Given the description of an element on the screen output the (x, y) to click on. 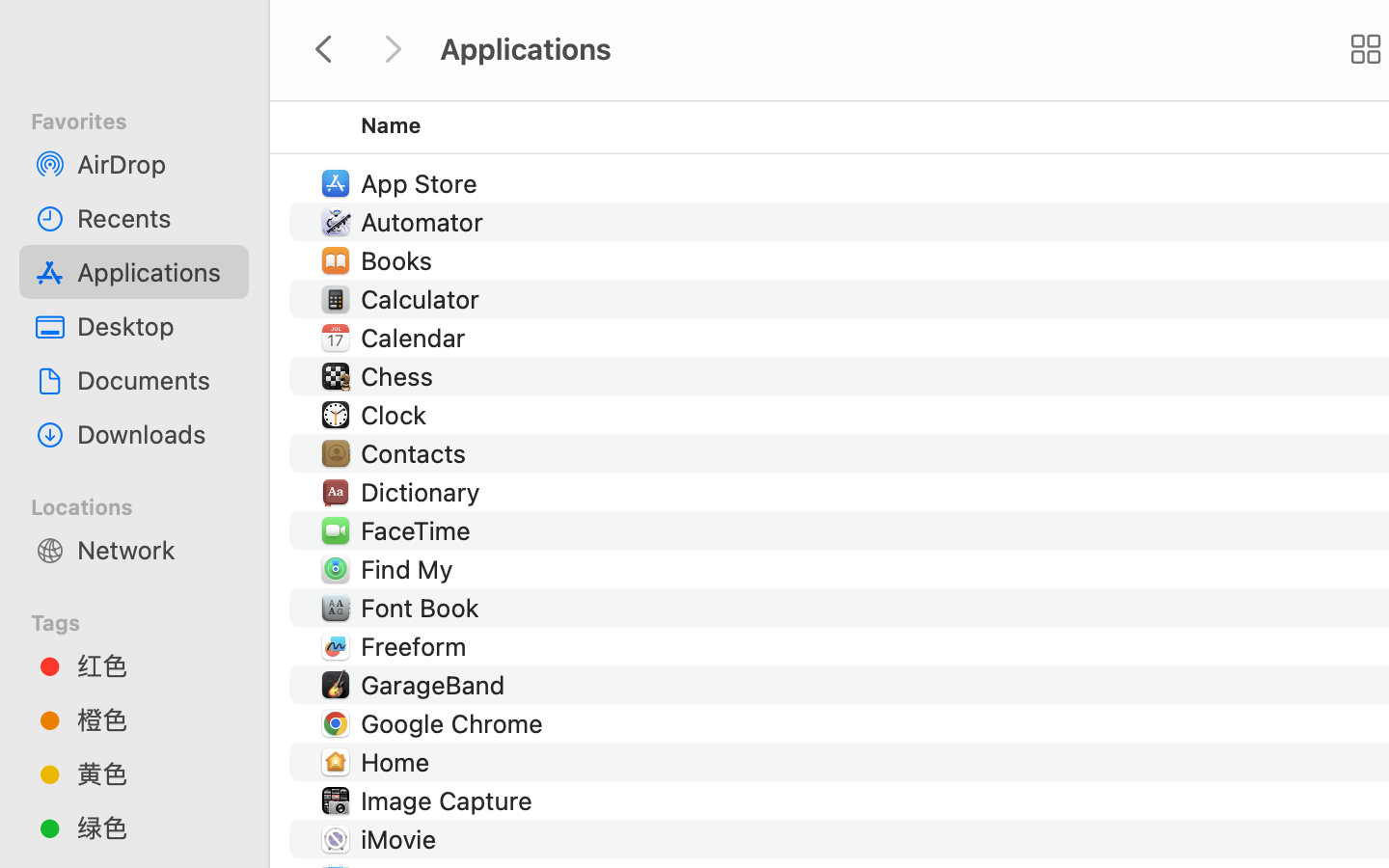
Google Chrome Element type: AXTextField (455, 722)
绿色 Element type: AXStaticText (155, 827)
AirDrop Element type: AXStaticText (155, 163)
iMovie Element type: AXTextField (402, 838)
GarageBand Element type: AXTextField (436, 684)
